Given the description of an element on the screen output the (x, y) to click on. 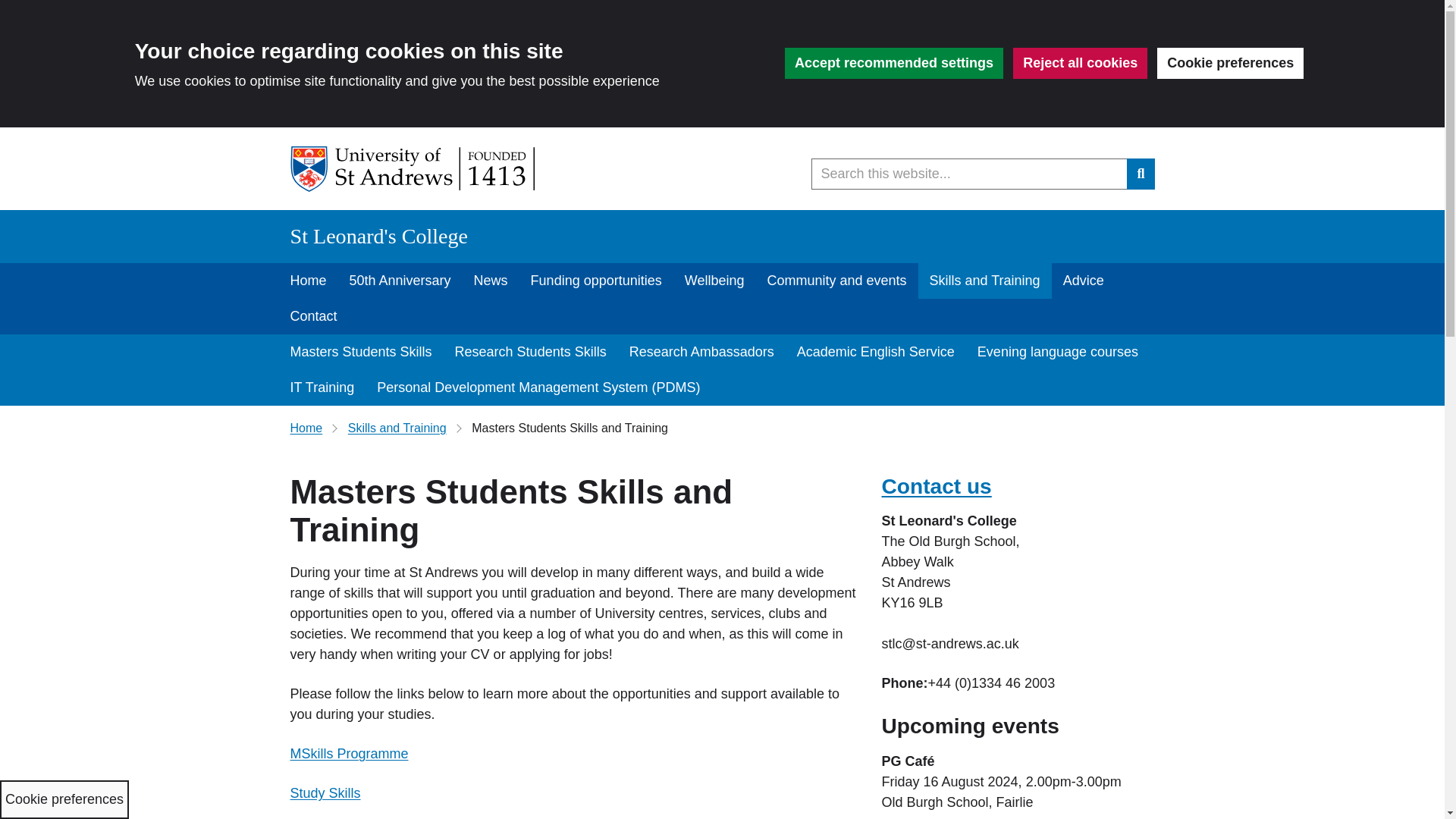
50th Anniversary (400, 280)
Masters Students Skills (361, 352)
Home (308, 280)
IT Training (322, 387)
Skills and Training (984, 280)
Advice (1083, 280)
Wellbeing (713, 280)
Funding opportunities (595, 280)
Evening language courses (1058, 352)
MSkills Programme (348, 753)
